Given the description of an element on the screen output the (x, y) to click on. 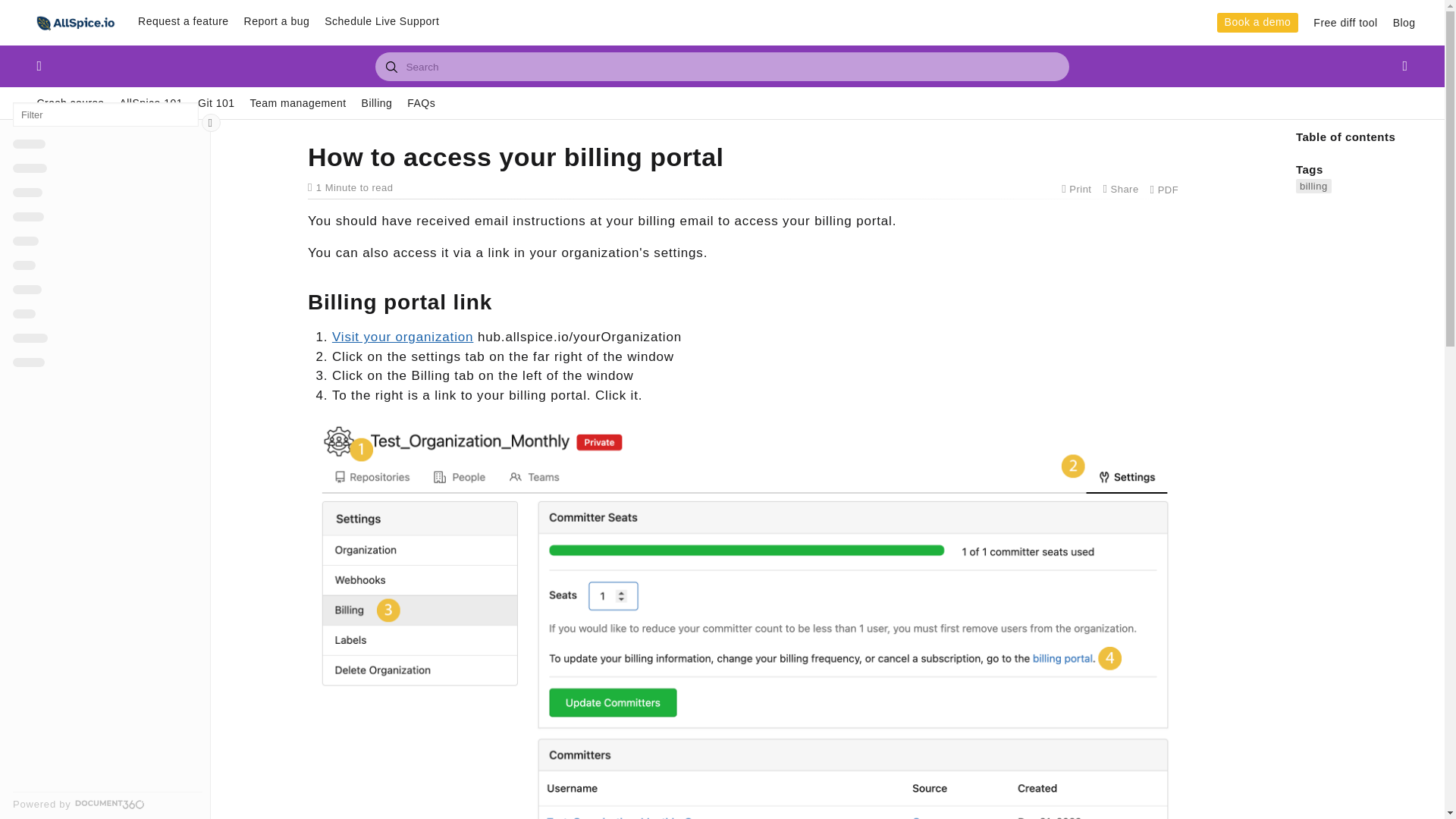
Crash course (69, 103)
Book a demo (1257, 22)
Free diff tool (1345, 23)
Hide category (211, 122)
Team management (298, 103)
Request a feature (183, 21)
FAQs (421, 103)
Blog (1404, 23)
Report a bug (277, 21)
Schedule Live Support (381, 21)
